Given the description of an element on the screen output the (x, y) to click on. 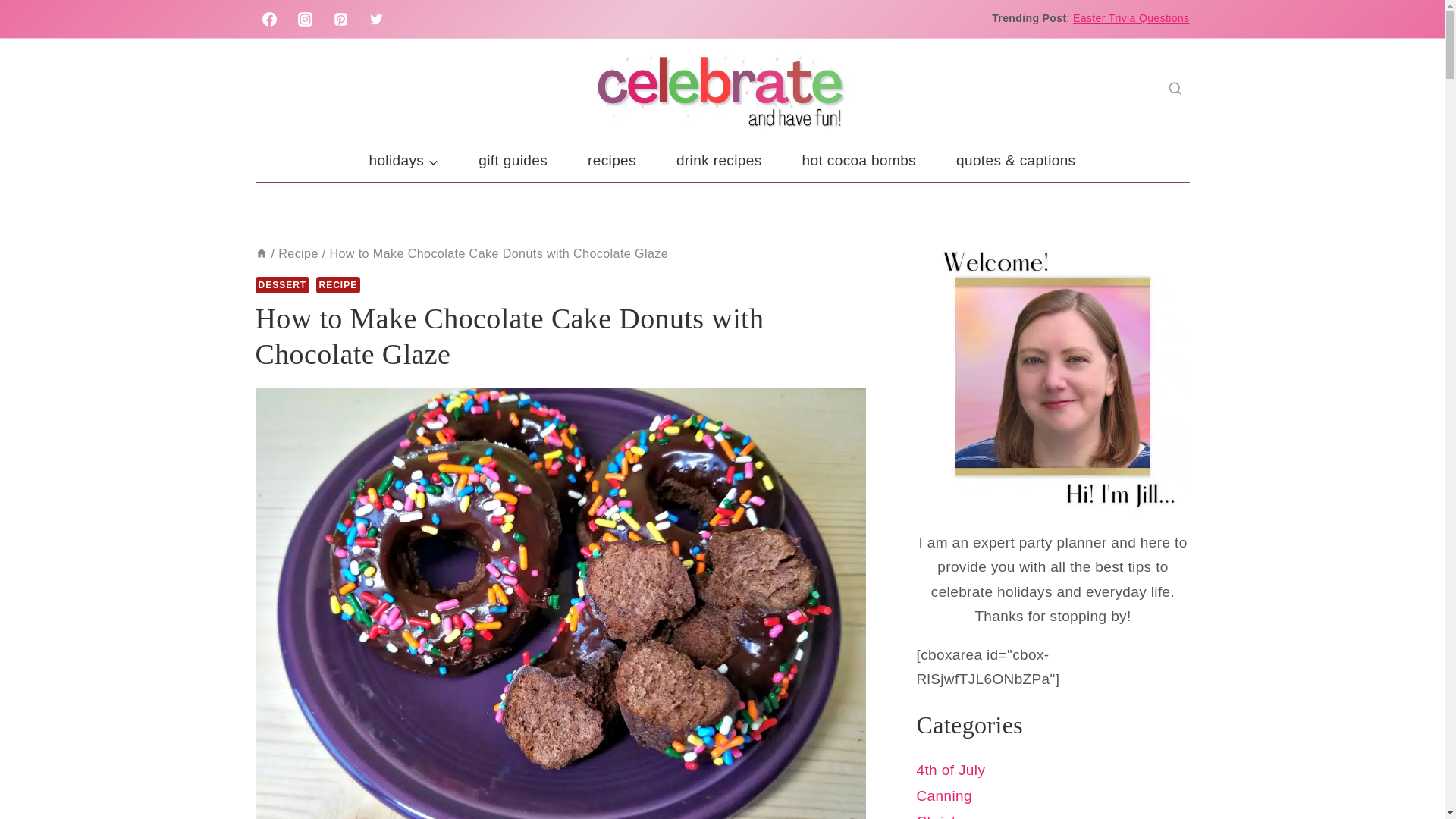
recipes (611, 160)
Recipe (298, 253)
drink recipes (718, 160)
gift guides (512, 160)
Home (260, 253)
RECIPE (338, 284)
holidays (403, 160)
Easter Trivia Questions (1131, 18)
DESSERT (281, 284)
hot cocoa bombs (858, 160)
